Given the description of an element on the screen output the (x, y) to click on. 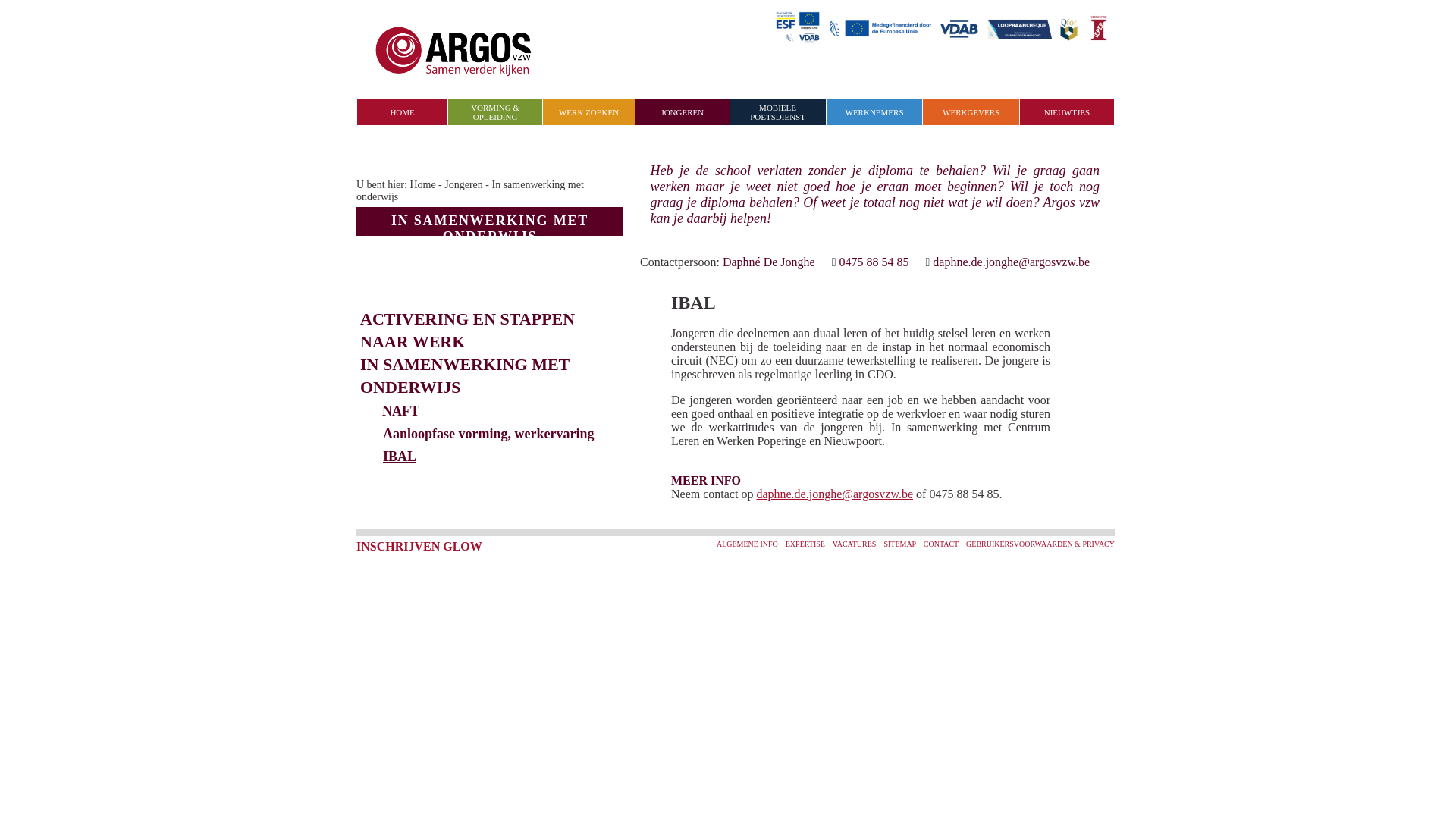
ALGEMENE INFO Element type: text (747, 543)
INSCHRIJVEN GLOW Element type: text (419, 545)
VORMING &
OPLEIDING Element type: text (494, 112)
JONGEREN Element type: text (681, 111)
NAFT Element type: text (400, 410)
WERKNEMERS Element type: text (874, 111)
Home Element type: text (422, 184)
GEBRUIKERSVOORWAARDEN Element type: text (1019, 543)
HOME Element type: text (401, 111)
CONTACT Element type: text (940, 543)
NIEUWTJES Element type: text (1067, 111)
daphne.de.jonghe@argosvzw.be Element type: text (1010, 261)
WERKGEVERS Element type: text (970, 111)
daphne.de.jonghe@argosvzw.be Element type: text (834, 493)
IBAL Element type: text (399, 456)
SITEMAP Element type: text (899, 543)
Aanloopfase vorming, werkervaring Element type: text (487, 433)
EXPERTISE Element type: text (804, 543)
Jongeren Element type: text (463, 184)
ACTIVERING EN STAPPEN NAAR WERK Element type: text (467, 330)
IN SAMENWERKING MET ONDERWIJS Element type: text (464, 375)
MOBIELE POETSDIENST Element type: text (777, 112)
WERK ZOEKEN Element type: text (588, 111)
PRIVACY Element type: text (1098, 543)
VACATURES Element type: text (854, 543)
